Given the description of an element on the screen output the (x, y) to click on. 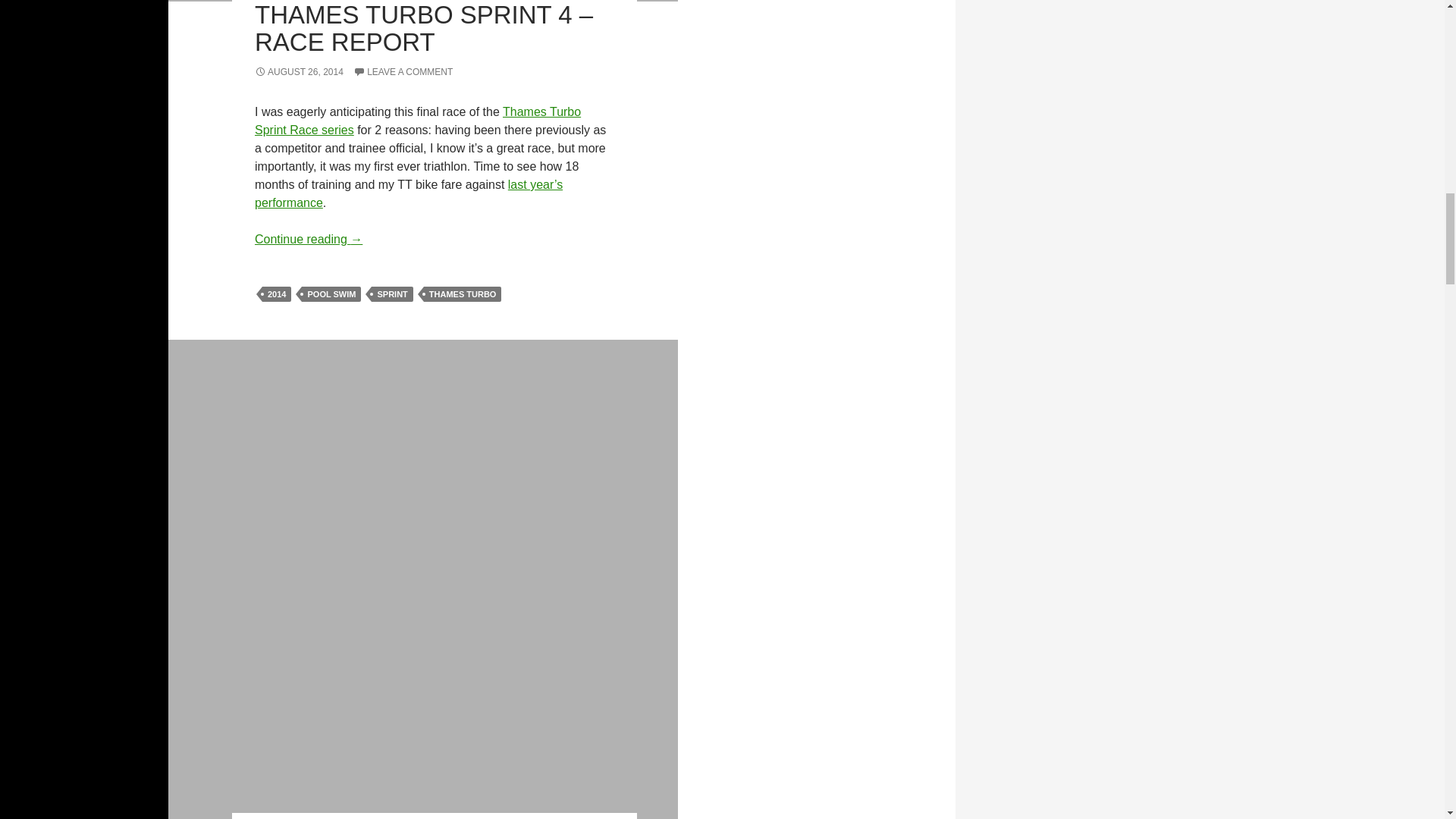
AUGUST 26, 2014 (298, 71)
LEAVE A COMMENT (402, 71)
THAMES TURBO (462, 294)
SPRINT (391, 294)
2014 (276, 294)
Thames Turbo Race Series (417, 120)
Thames Turbo Sprint Race series (417, 120)
First triathlon season (408, 193)
POOL SWIM (331, 294)
